Given the description of an element on the screen output the (x, y) to click on. 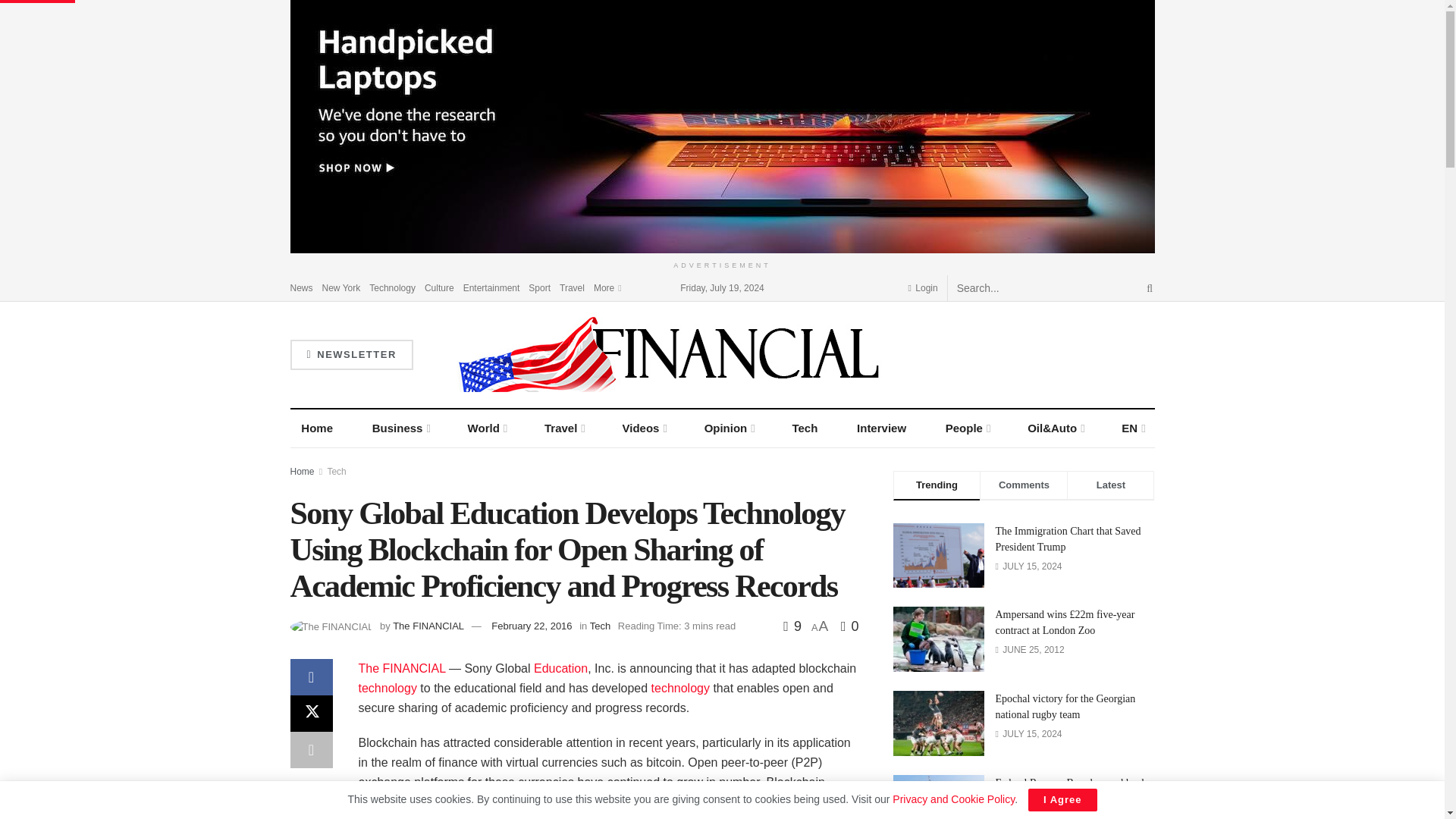
Entertainment (491, 287)
New York (341, 287)
Home (316, 428)
NEWSLETTER (350, 354)
World (486, 428)
More (607, 287)
School (561, 667)
The FINANCIAL (401, 667)
Technology (387, 687)
Technology (680, 687)
Travel (572, 287)
Business (400, 428)
Culture (439, 287)
Technology (391, 287)
Login (922, 287)
